Given the description of an element on the screen output the (x, y) to click on. 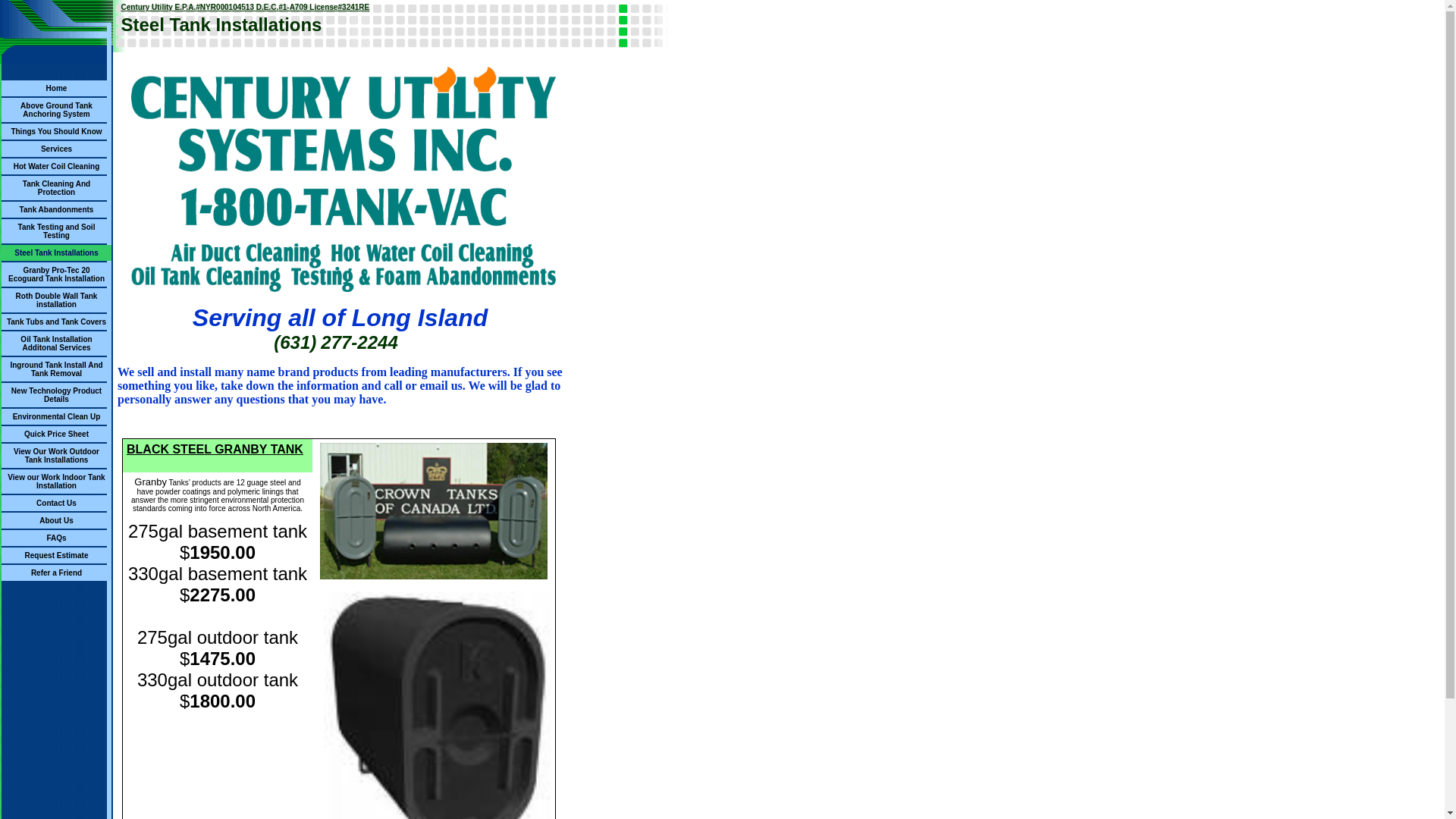
Tank Cleaning And Protection Element type: text (56, 186)
Environmental Clean Up Element type: text (56, 414)
Above Ground Tank Anchoring System Element type: text (56, 108)
Request Estimate Element type: text (56, 553)
Inground Tank Install And Tank Removal Element type: text (55, 367)
New Technology Product Details Element type: text (56, 393)
Tank Testing and Soil Testing Element type: text (56, 229)
Granby Pro-Tec 20 Ecoguard Tank Installation Element type: text (56, 272)
Tank Tubs and Tank Covers Element type: text (56, 319)
Contact Us Element type: text (56, 501)
FAQs Element type: text (55, 536)
Refer a Friend Element type: text (56, 570)
About Us Element type: text (55, 518)
Services Element type: text (56, 147)
Hot Water Coil Cleaning Element type: text (56, 164)
Steel Tank Installations Element type: text (55, 250)
View our Work Indoor Tank Installation Element type: text (55, 479)
Roth Double Wall Tank installation Element type: text (56, 298)
Oil Tank Installation Additonal Services Element type: text (55, 341)
Quick Price Sheet Element type: text (56, 432)
View Our Work Outdoor Tank Installations Element type: text (56, 453)
Tank Abandonments Element type: text (56, 207)
Things You Should Know Element type: text (55, 129)
Home Element type: text (56, 86)
